Given the description of an element on the screen output the (x, y) to click on. 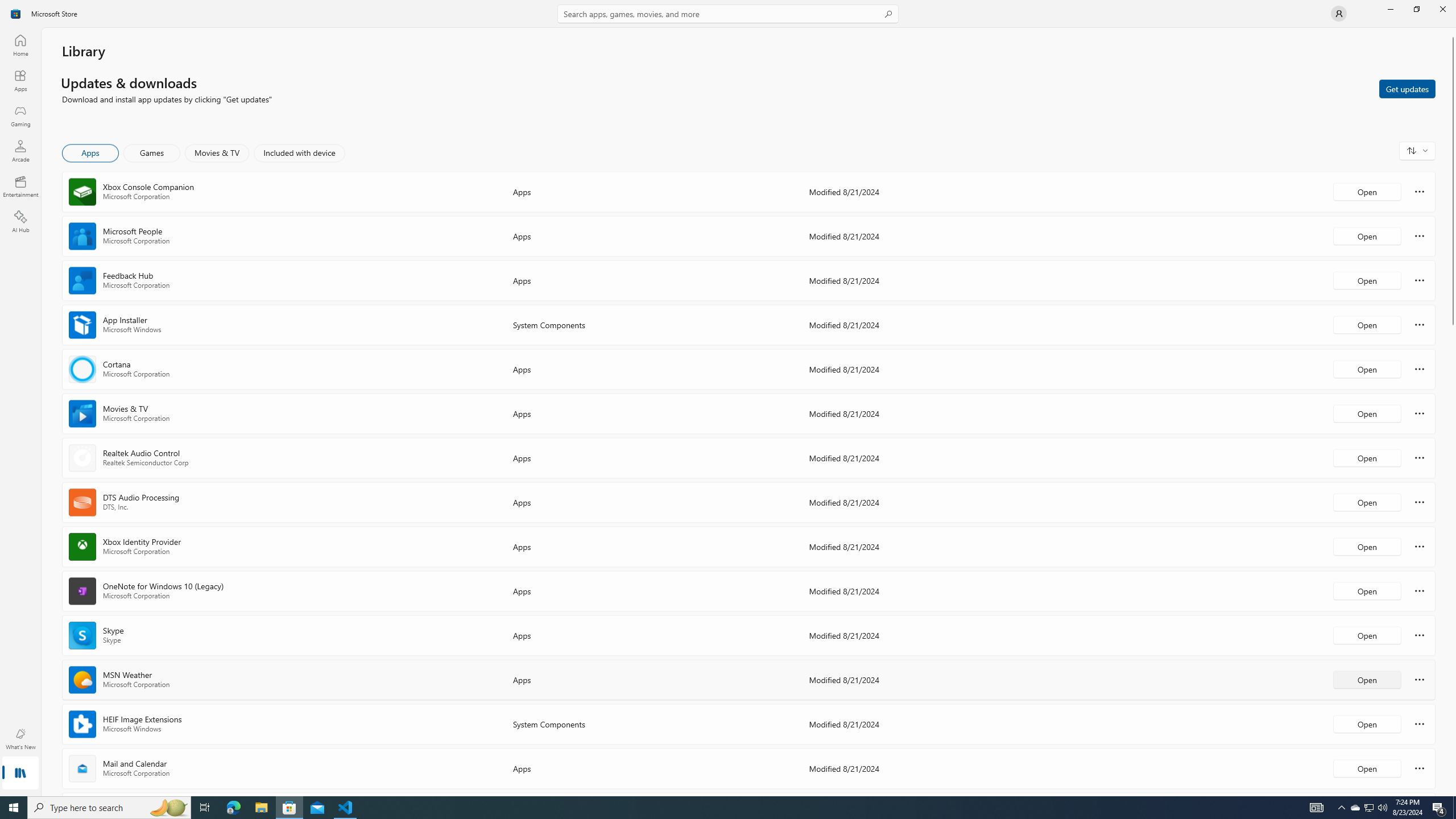
Games (151, 153)
Restore Microsoft Store (1416, 9)
What's New (20, 738)
Apps (20, 80)
Vertical Small Decrease (1452, 31)
Apps (90, 153)
Open (1366, 768)
Close Microsoft Store (1442, 9)
Movies & TV (216, 153)
User profile (1338, 13)
Entertainment (20, 185)
Included with device (299, 153)
More options (1419, 768)
Vertical Small Increase (1452, 792)
Library (20, 773)
